Given the description of an element on the screen output the (x, y) to click on. 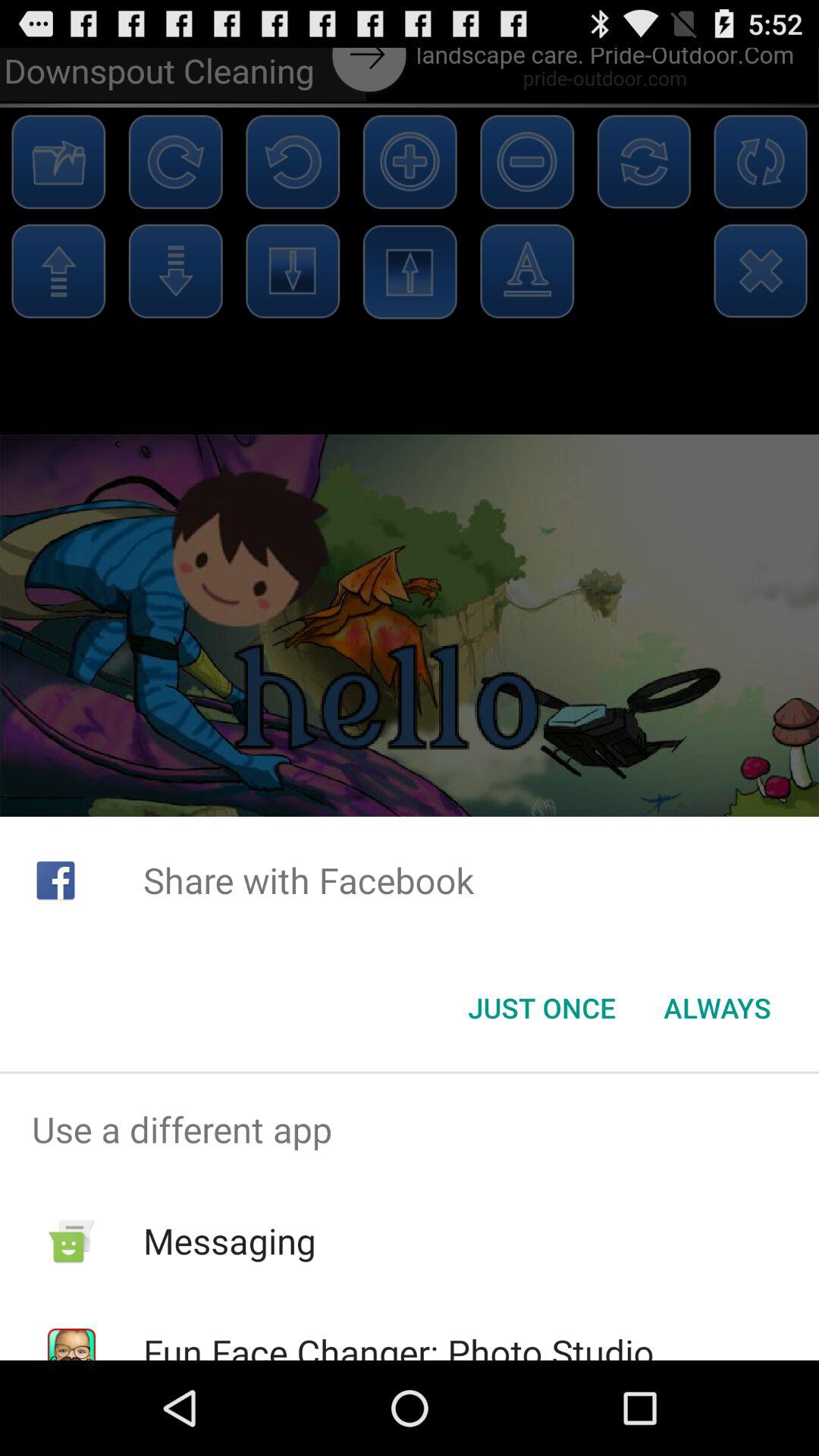
swipe until the messaging app (229, 1240)
